Given the description of an element on the screen output the (x, y) to click on. 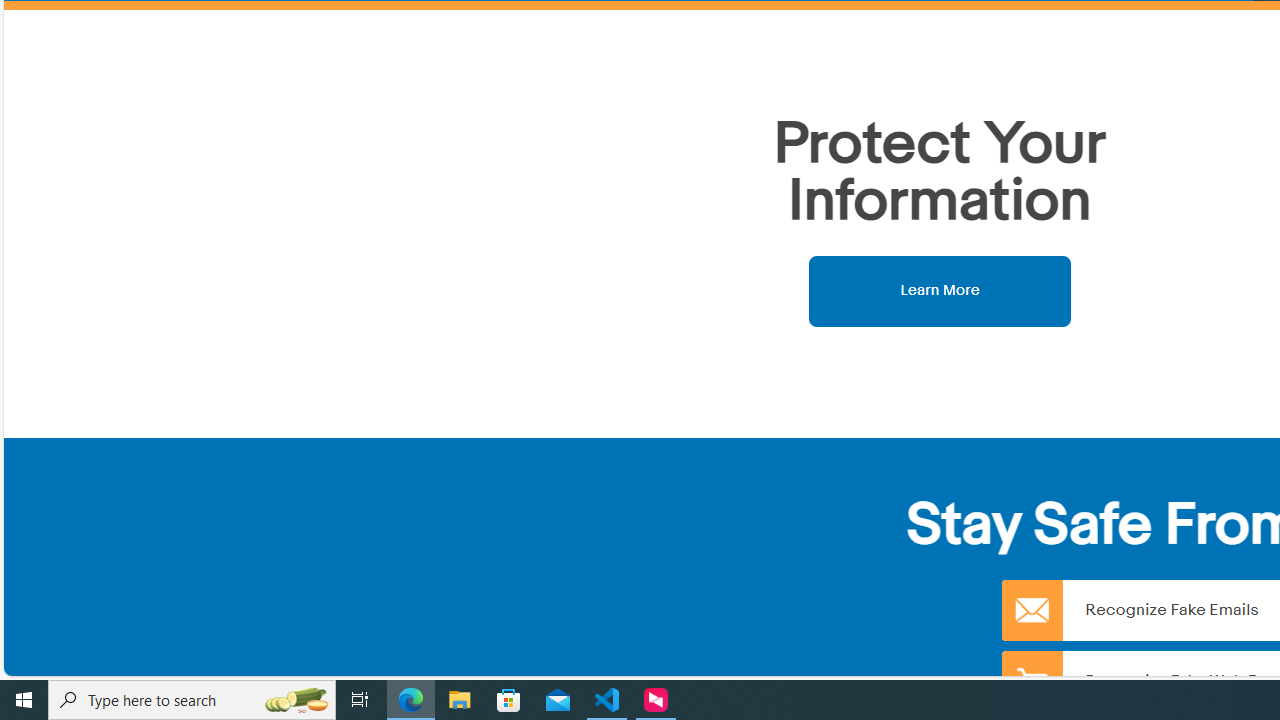
Learn More (939, 290)
